Given the description of an element on the screen output the (x, y) to click on. 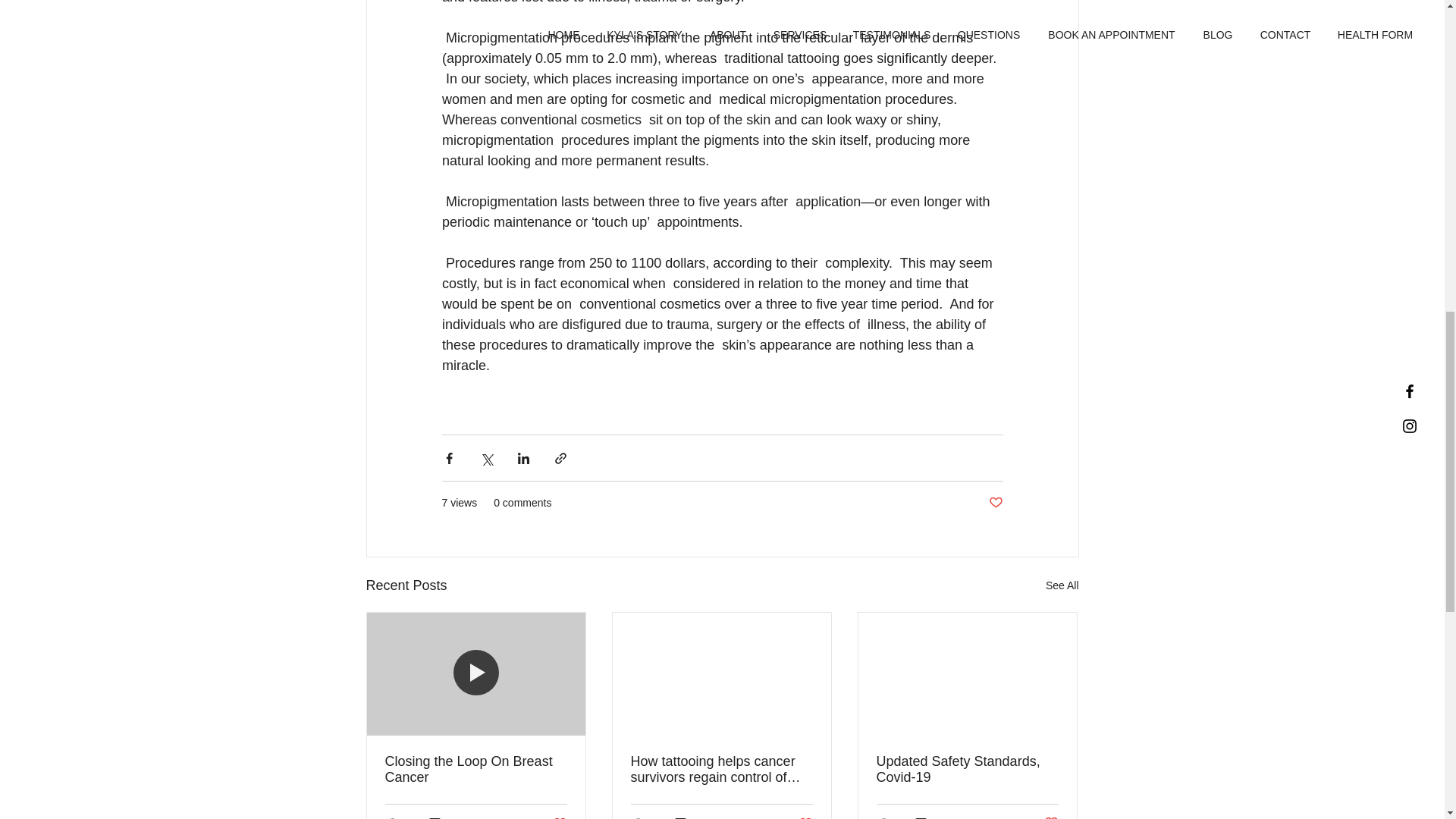
0 (440, 817)
Updated Safety Standards, Covid-19 (800, 817)
See All (967, 769)
Post not marked as liked (1061, 585)
0 (995, 503)
Closing the Loop On Breast Cancer (685, 817)
